Given the description of an element on the screen output the (x, y) to click on. 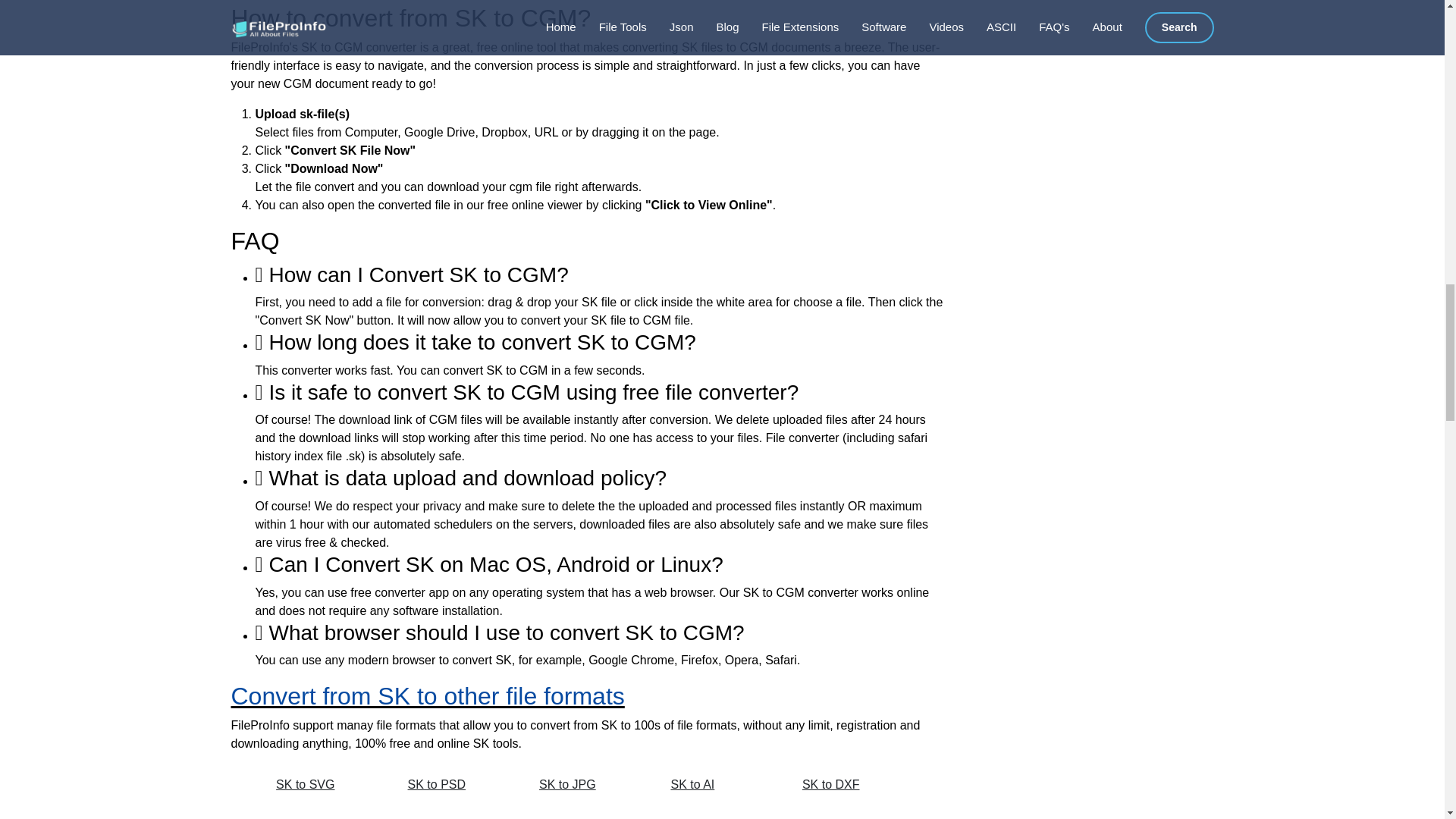
SK to PSD (456, 784)
SK to AI (719, 784)
SK to FIG (325, 814)
SK to DXF (851, 784)
SK to JPG (587, 784)
SK to SVG (325, 784)
Convert from SK to other file formats (427, 696)
